Given the description of an element on the screen output the (x, y) to click on. 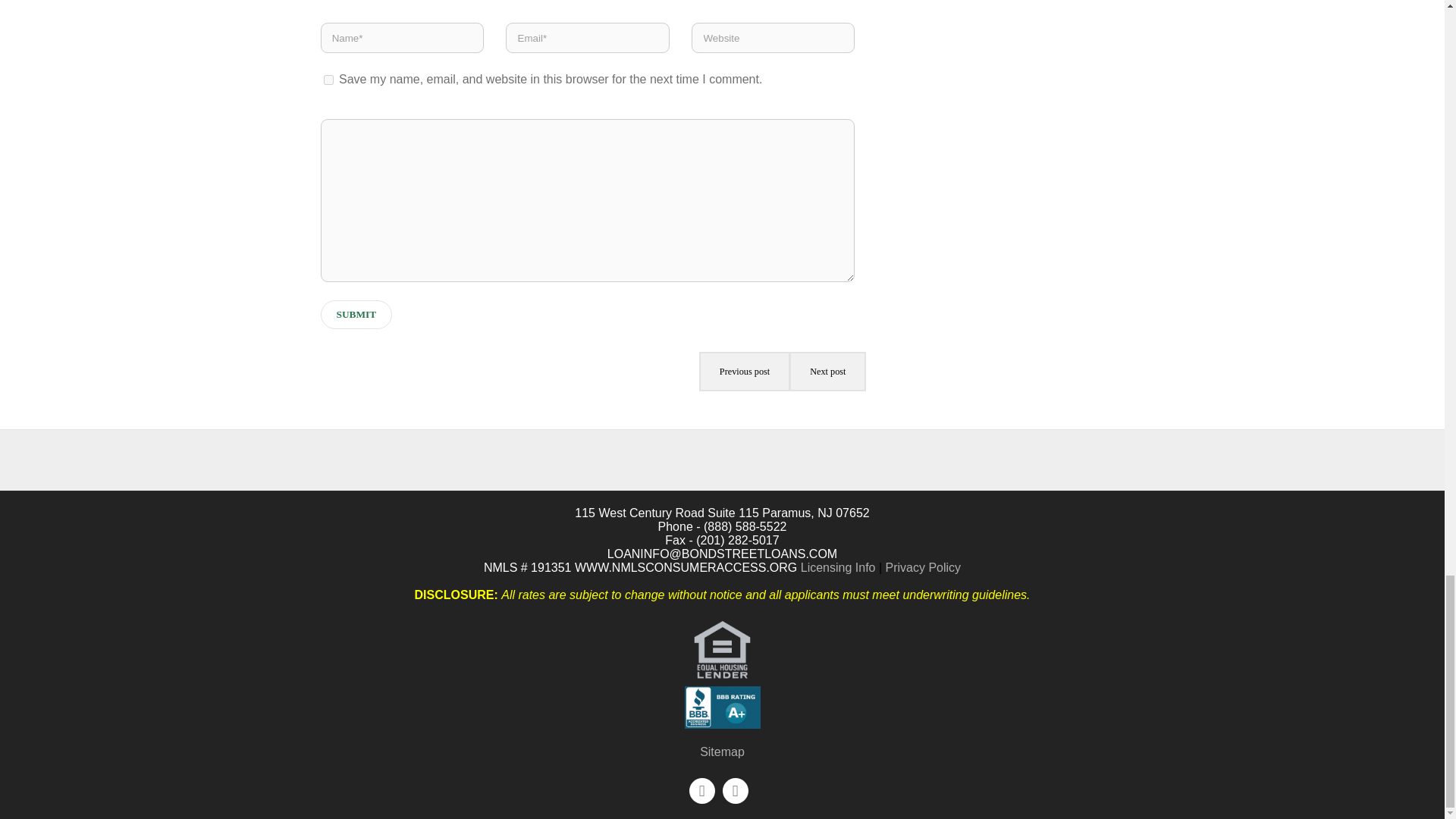
yes (328, 80)
Previous post (744, 371)
Next post (827, 371)
SUBMIT (355, 314)
SUBMIT (355, 314)
